Given the description of an element on the screen output the (x, y) to click on. 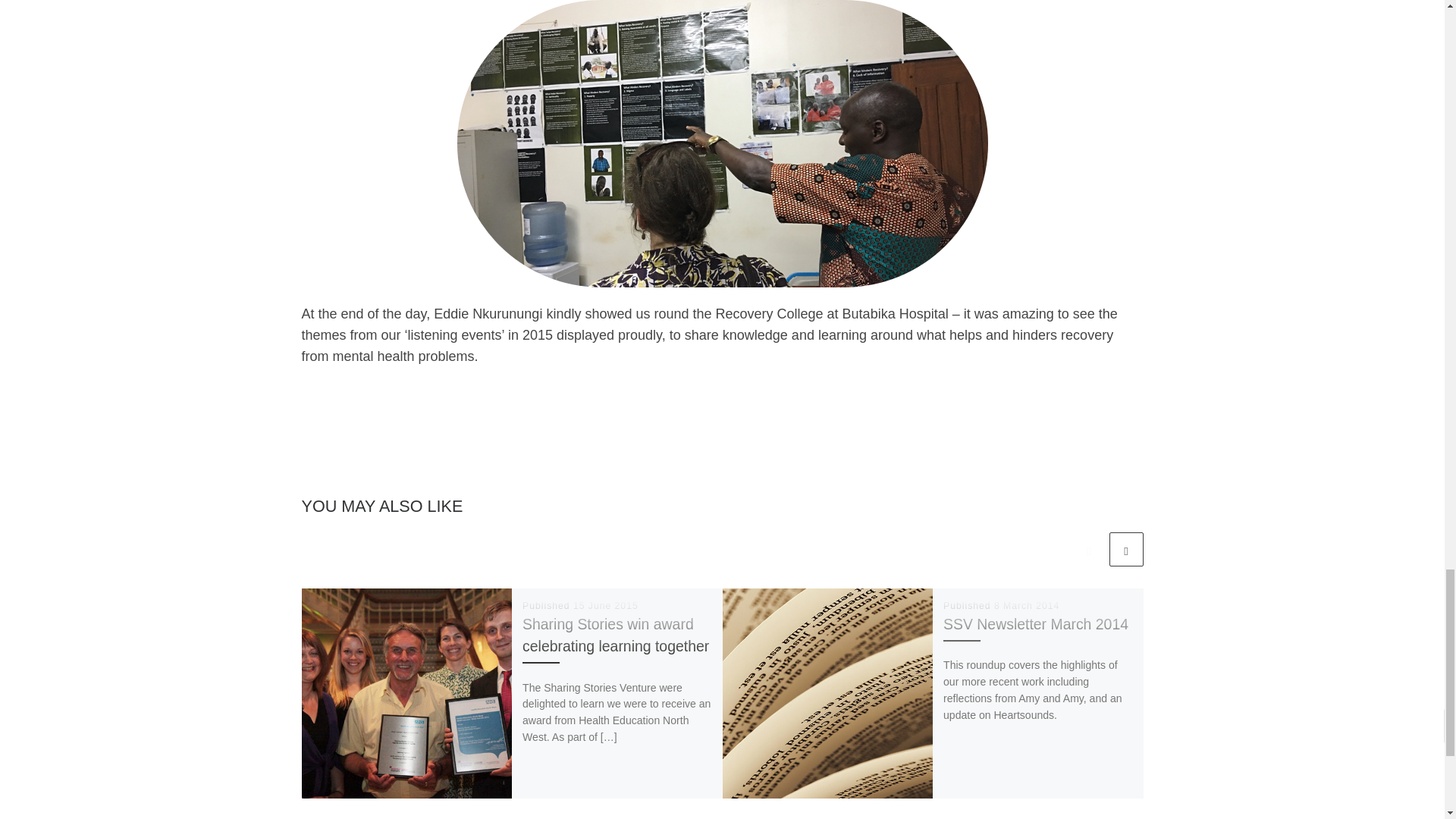
Previous related articles (1088, 549)
15 June 2015 (606, 605)
Sharing Stories win award celebrating learning together (615, 634)
8 March 2014 (1026, 605)
Next related articles (1125, 549)
SSV Newsletter March 2014 (1035, 623)
